Given the description of an element on the screen output the (x, y) to click on. 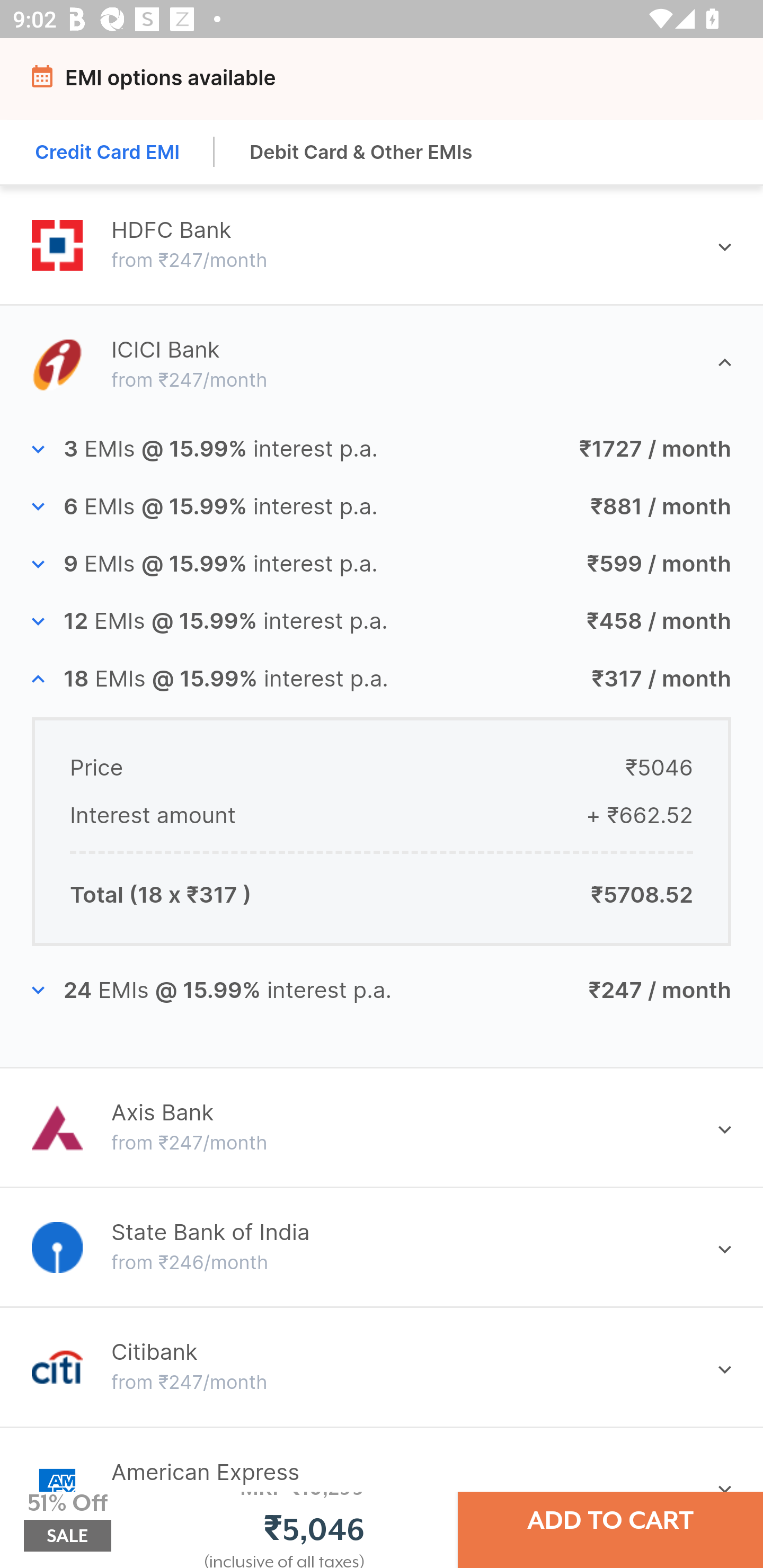
Navigate up (44, 82)
Call Us (546, 81)
Chat (629, 81)
Cart (718, 81)
Credit Card EMI (107, 152)
Debit Card & Other EMIs (361, 152)
HDFC Bank HDFC Bank from ₹247/month (381, 244)
ICICI Bank ICICI Bank from ₹247/month (381, 364)
3 EMIs @ 15.99% interest p.a. ₹1727 / month (381, 448)
6 EMIs @ 15.99% interest p.a. ₹881 / month (381, 505)
9 EMIs @ 15.99% interest p.a. ₹599 / month (381, 564)
12 EMIs @ 15.99% interest p.a. ₹458 / month (381, 621)
18 EMIs @ 15.99% interest p.a. ₹317 / month (381, 679)
24 EMIs @ 15.99% interest p.a. ₹247 / month (381, 990)
Axis Bank Axis Bank from ₹247/month (381, 1127)
Citibank Citibank from ₹247/month (381, 1367)
American Express American Express from ₹245/month (381, 1475)
ADD TO CART (610, 1520)
